Given the description of an element on the screen output the (x, y) to click on. 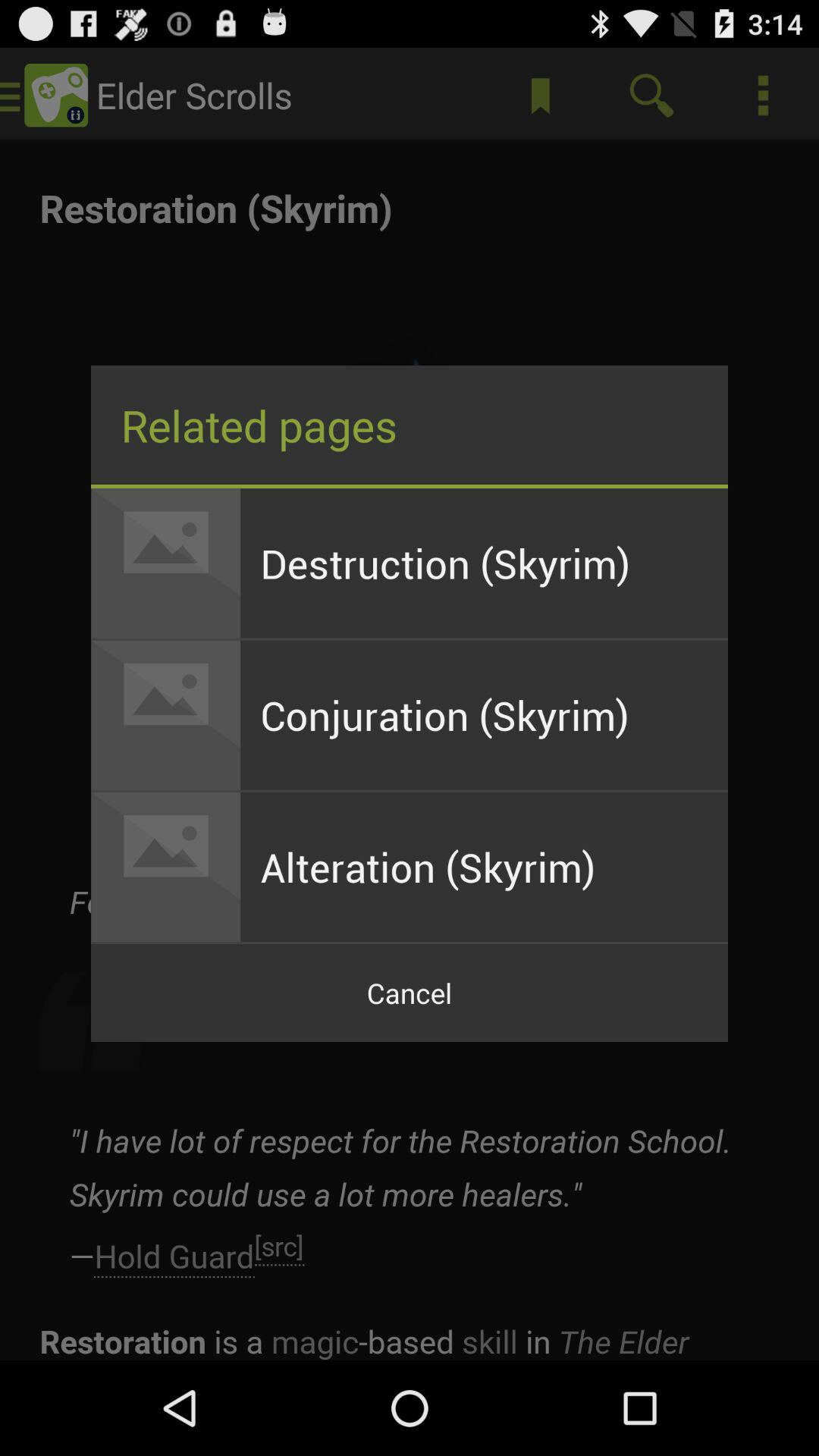
turn on the destruction (skyrim) icon (484, 563)
